Given the description of an element on the screen output the (x, y) to click on. 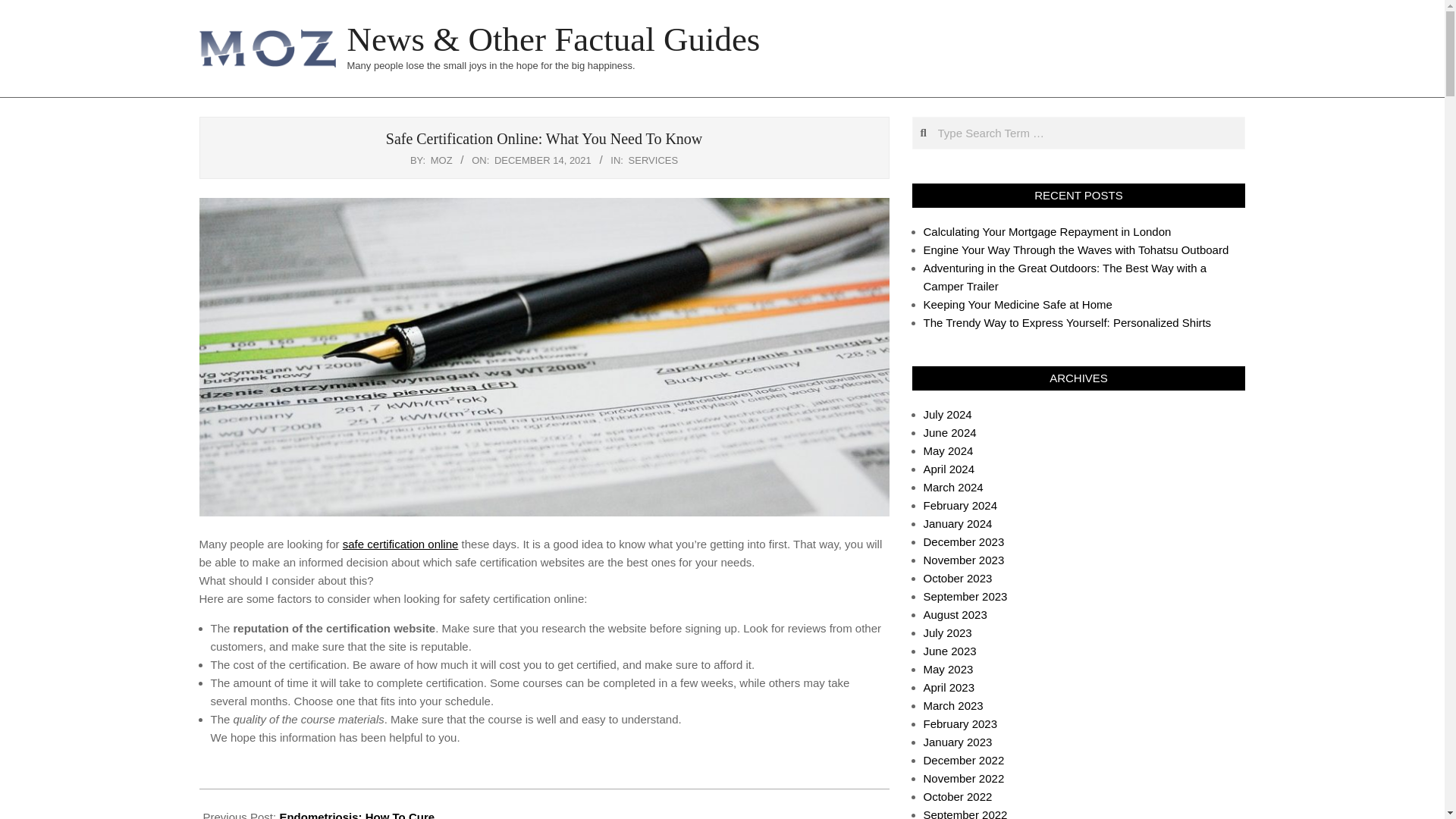
November 2023 (963, 559)
MOZ (441, 160)
November 2022 (963, 778)
June 2023 (949, 650)
Engine Your Way Through the Waves with Tohatsu Outboard (1075, 249)
May 2023 (948, 668)
October 2022 (957, 796)
Posts by Moz (441, 160)
safe certification online (400, 543)
April 2023 (949, 686)
December 2023 (963, 541)
May 2024 (948, 450)
April 2024 (949, 468)
August 2023 (955, 614)
March 2023 (953, 705)
